Given the description of an element on the screen output the (x, y) to click on. 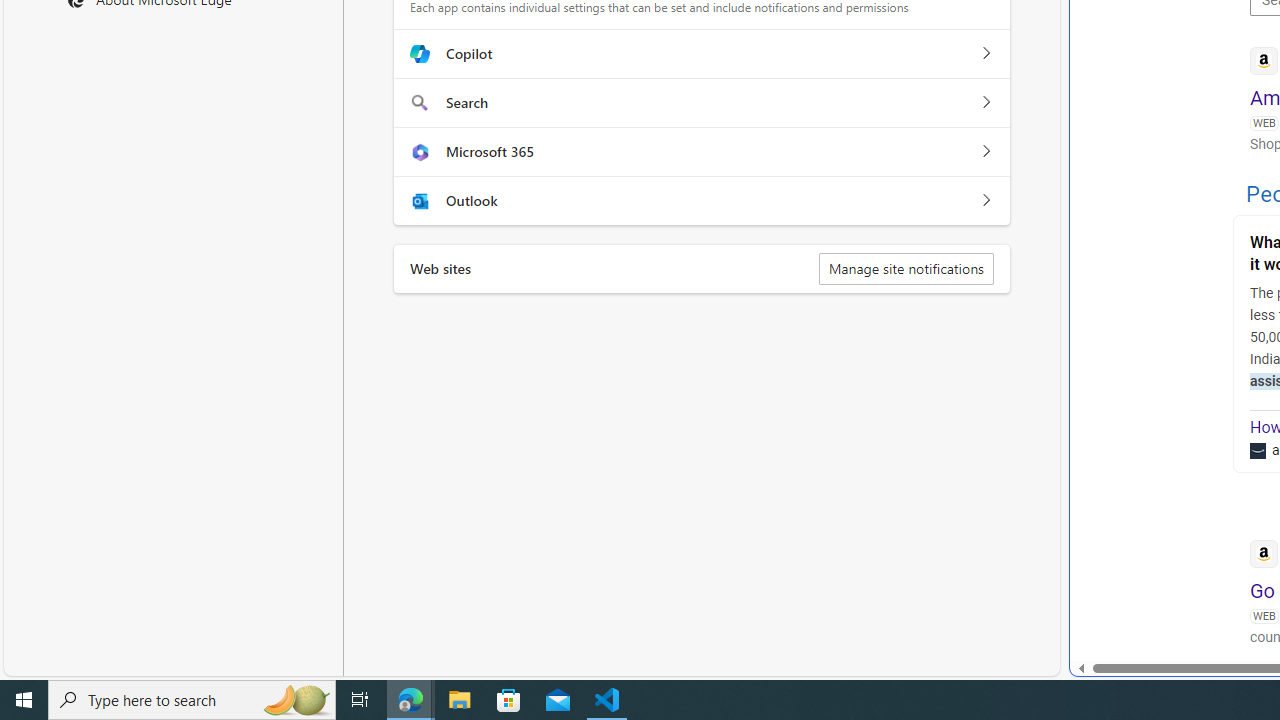
Manage site notifications (905, 268)
Copilot (985, 54)
